Given the description of an element on the screen output the (x, y) to click on. 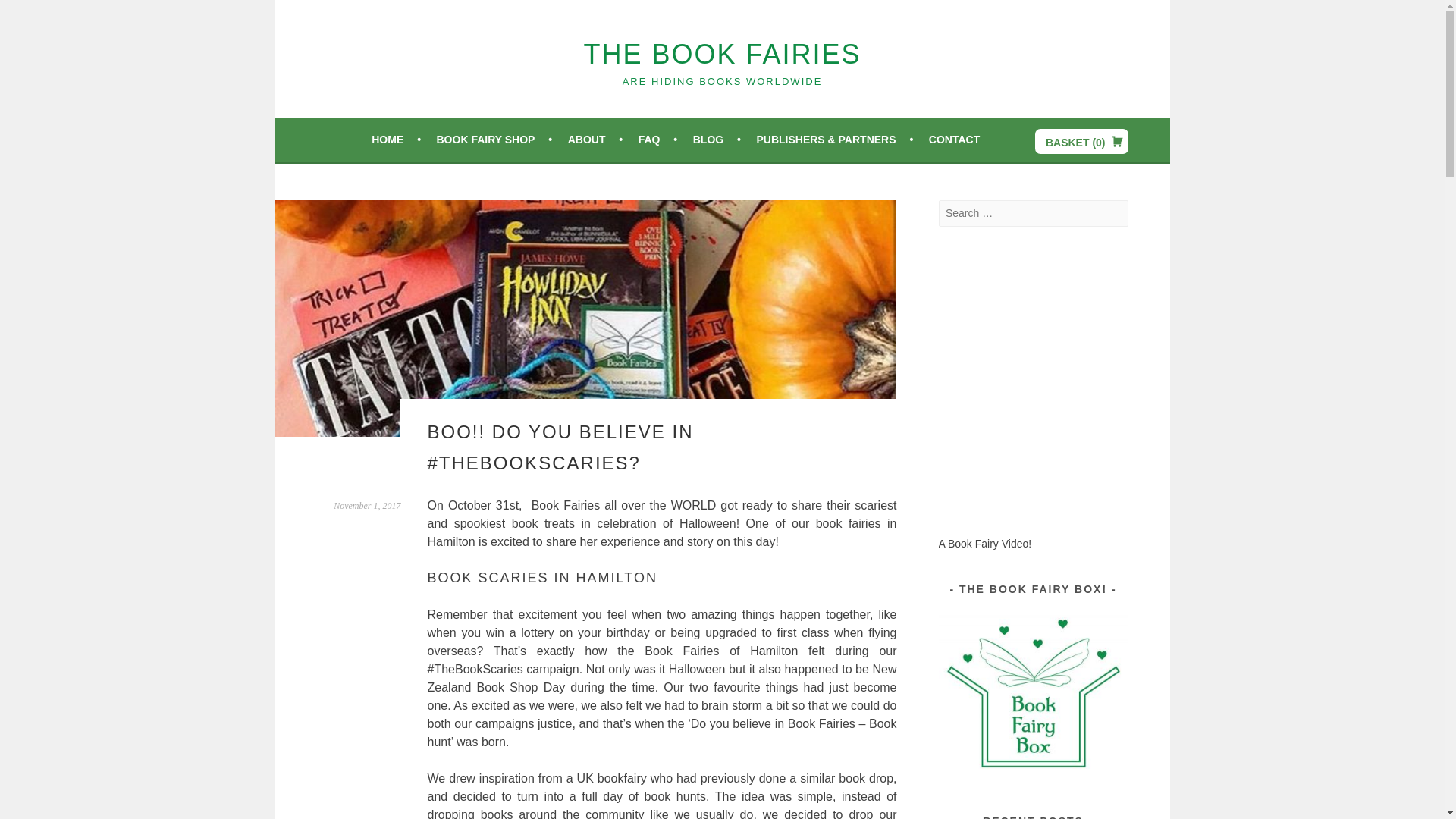
Cart View (1081, 140)
BOOK FAIRY SHOP (494, 139)
ABOUT (595, 139)
HOME (395, 139)
November 1, 2017 (366, 505)
Search (30, 13)
CONTACT (953, 139)
BLOG (717, 139)
FAQ (658, 139)
The Book Fairies (721, 53)
